Given the description of an element on the screen output the (x, y) to click on. 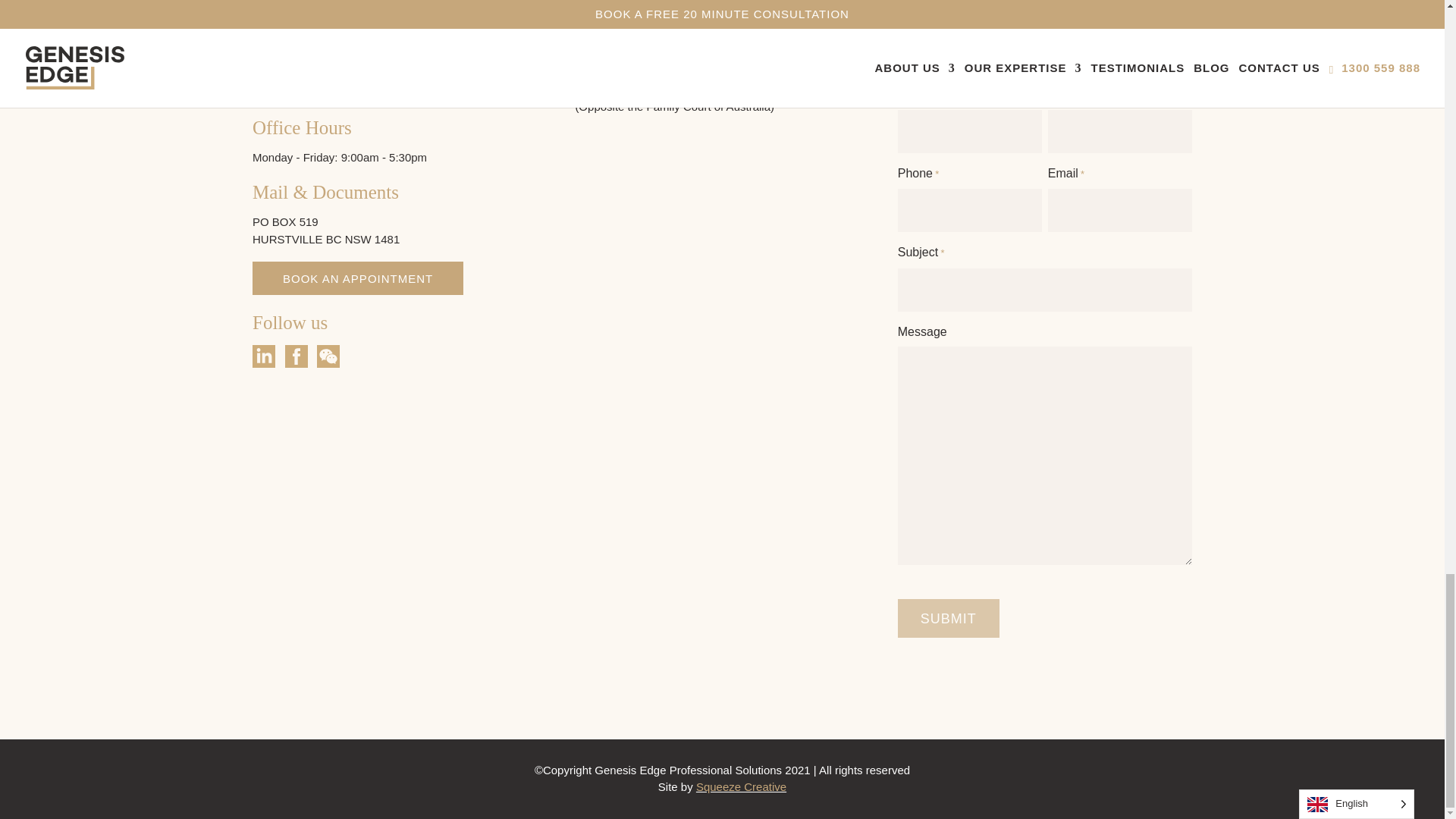
Submit (948, 618)
